Given the description of an element on the screen output the (x, y) to click on. 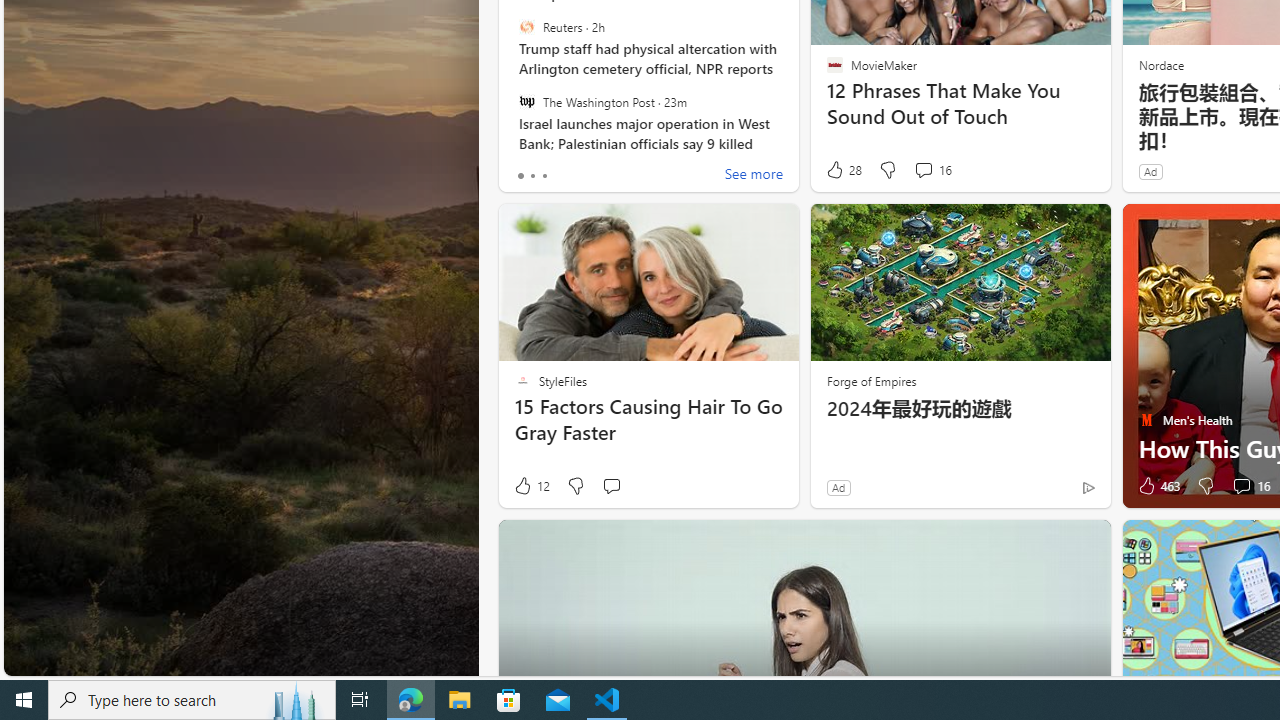
tab-1 (532, 175)
tab-0 (520, 175)
View comments 16 Comment (1249, 485)
28 Like (843, 170)
